Given the description of an element on the screen output the (x, y) to click on. 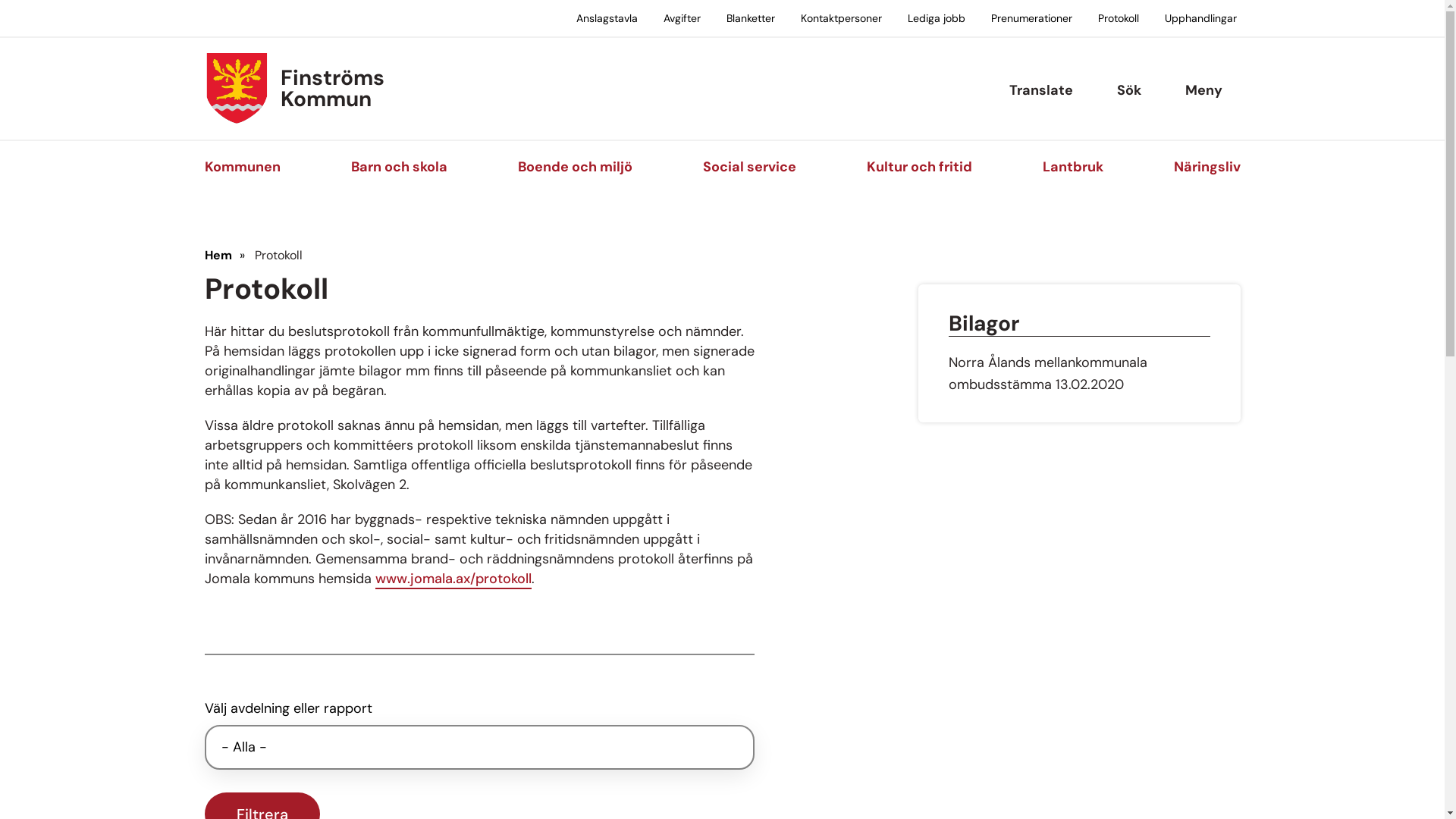
Blanketter Element type: text (749, 18)
www.jomala.ax/protokoll Element type: text (452, 579)
Protokoll Element type: text (1117, 18)
Kultur och fritid Element type: text (918, 166)
Translate Element type: text (1040, 90)
Prenumerationer Element type: text (1031, 18)
Lantbruk Element type: text (1071, 166)
Kommunen Element type: text (242, 166)
Lediga jobb Element type: text (936, 18)
Anslagstavla Element type: text (605, 18)
Avgifter Element type: text (681, 18)
Kontaktpersoner Element type: text (840, 18)
Meny Element type: text (1202, 90)
Social service Element type: text (748, 166)
Upphandlingar Element type: text (1199, 18)
Barn och skola Element type: text (398, 166)
Hem Element type: text (218, 255)
